Given the description of an element on the screen output the (x, y) to click on. 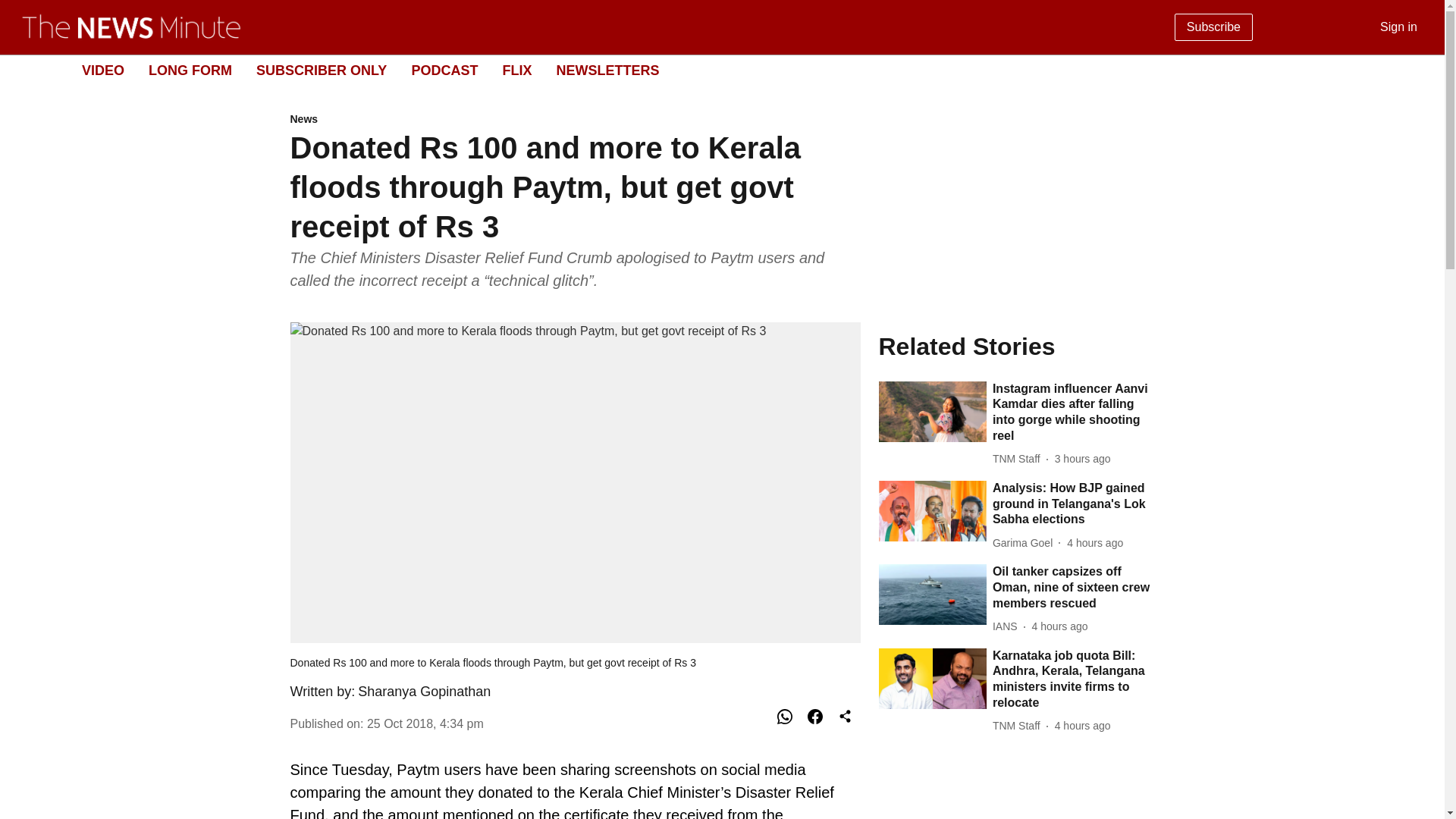
FLIX (516, 70)
LONG FORM (189, 70)
News (574, 119)
2024-07-18 03:34 (1082, 458)
2024-07-18 02:55 (1082, 725)
Dark Mode (1415, 70)
2018-10-25 08:34 (424, 723)
2024-07-18 03:30 (1094, 543)
Sharanya Gopinathan (424, 691)
NEWSLETTERS (607, 70)
VIDEO (709, 70)
SUBSCRIBER ONLY (102, 70)
PODCAST (321, 70)
2024-07-18 03:08 (443, 70)
